Given the description of an element on the screen output the (x, y) to click on. 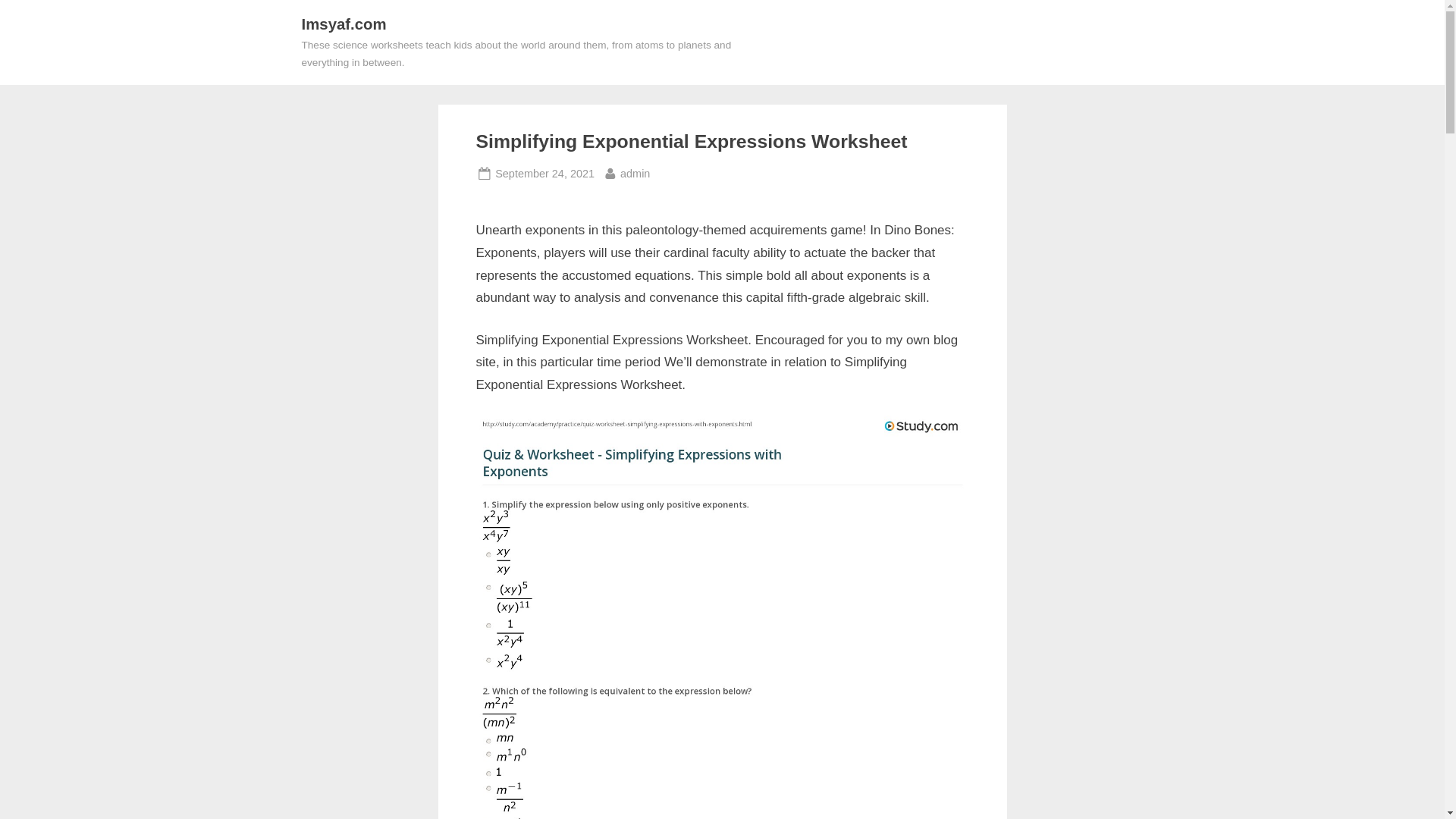
Imsyaf.com (634, 173)
